Given the description of an element on the screen output the (x, y) to click on. 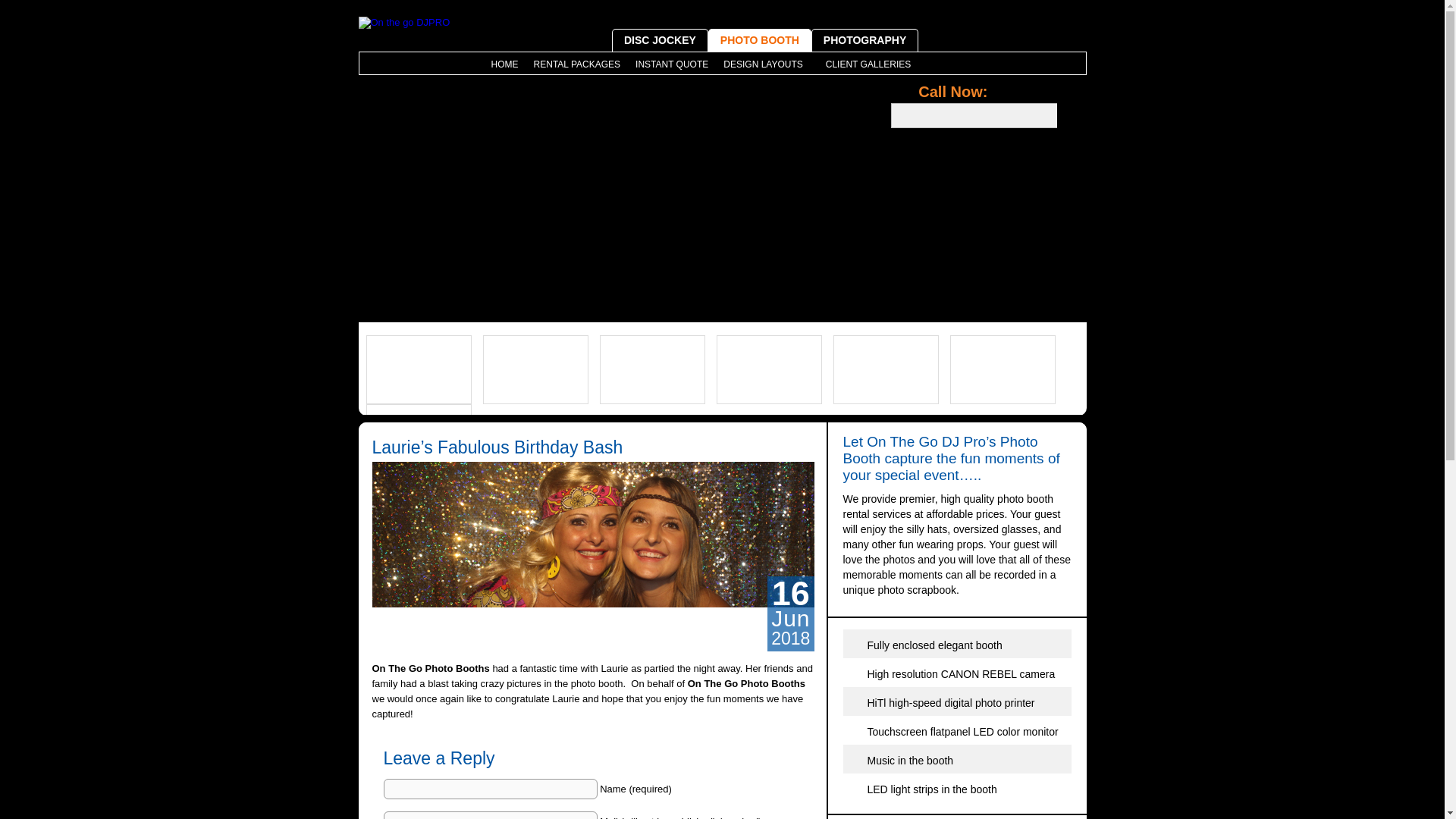
DESIGN LAYOUTS (766, 63)
INSTANT QUOTE (671, 63)
CLIENT GALLERIES (868, 63)
DISC JOCKEY (659, 39)
Search (1070, 115)
PHOTO BOOTH (758, 39)
On the go DJPRO (403, 22)
PHOTOGRAPHY (864, 39)
Search (1070, 115)
RENTAL PACKAGES (576, 63)
